Given the description of an element on the screen output the (x, y) to click on. 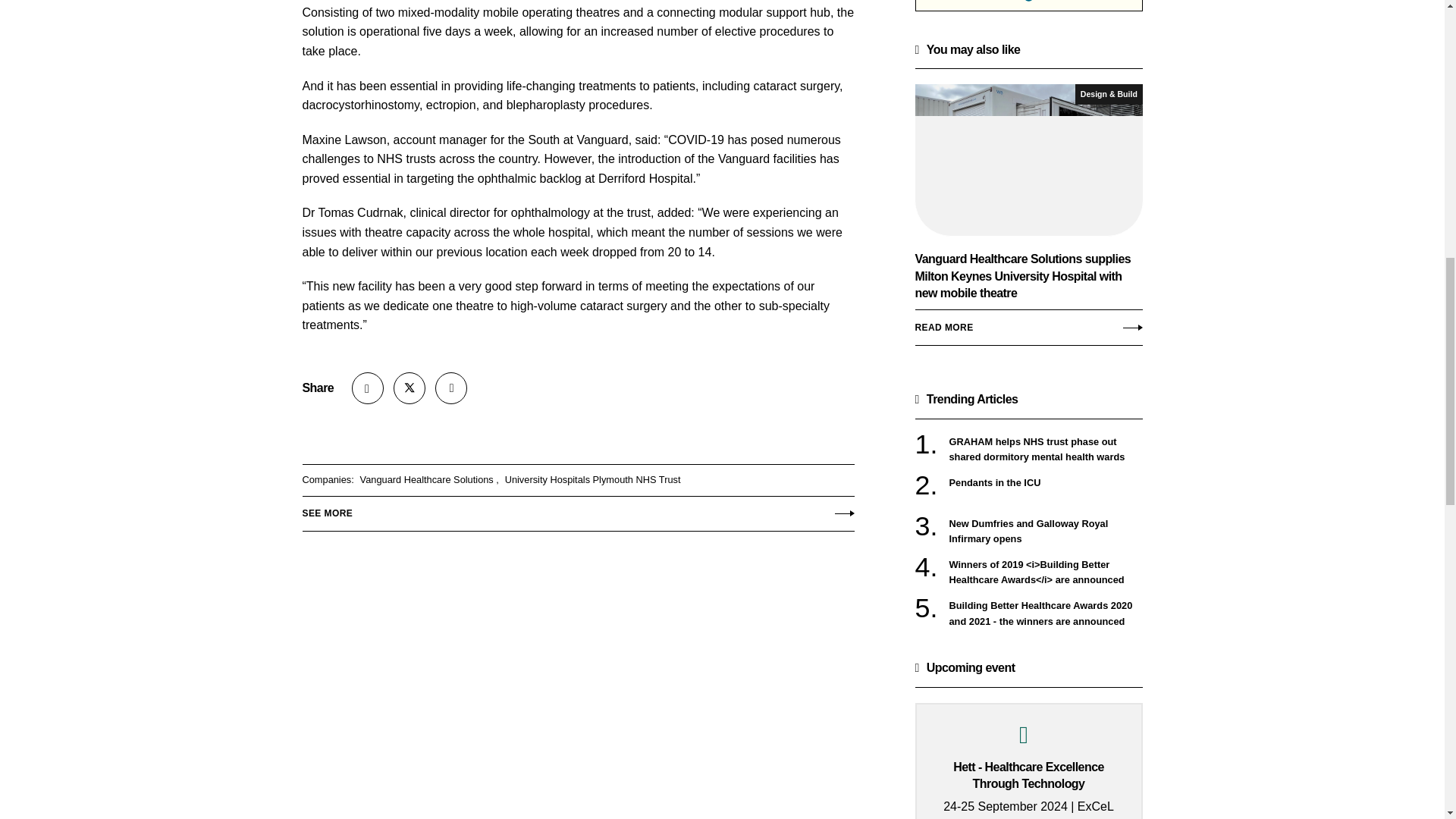
Share this article (368, 388)
New Dumfries and Galloway Royal Infirmary opens (1045, 531)
Pendants in the ICU (1045, 482)
Share (368, 388)
Follow Building Better Healthcare on X (409, 388)
LinkedIn (451, 388)
Follow Building Better Healthcare on LinkedIn (451, 388)
X (409, 388)
